Given the description of an element on the screen output the (x, y) to click on. 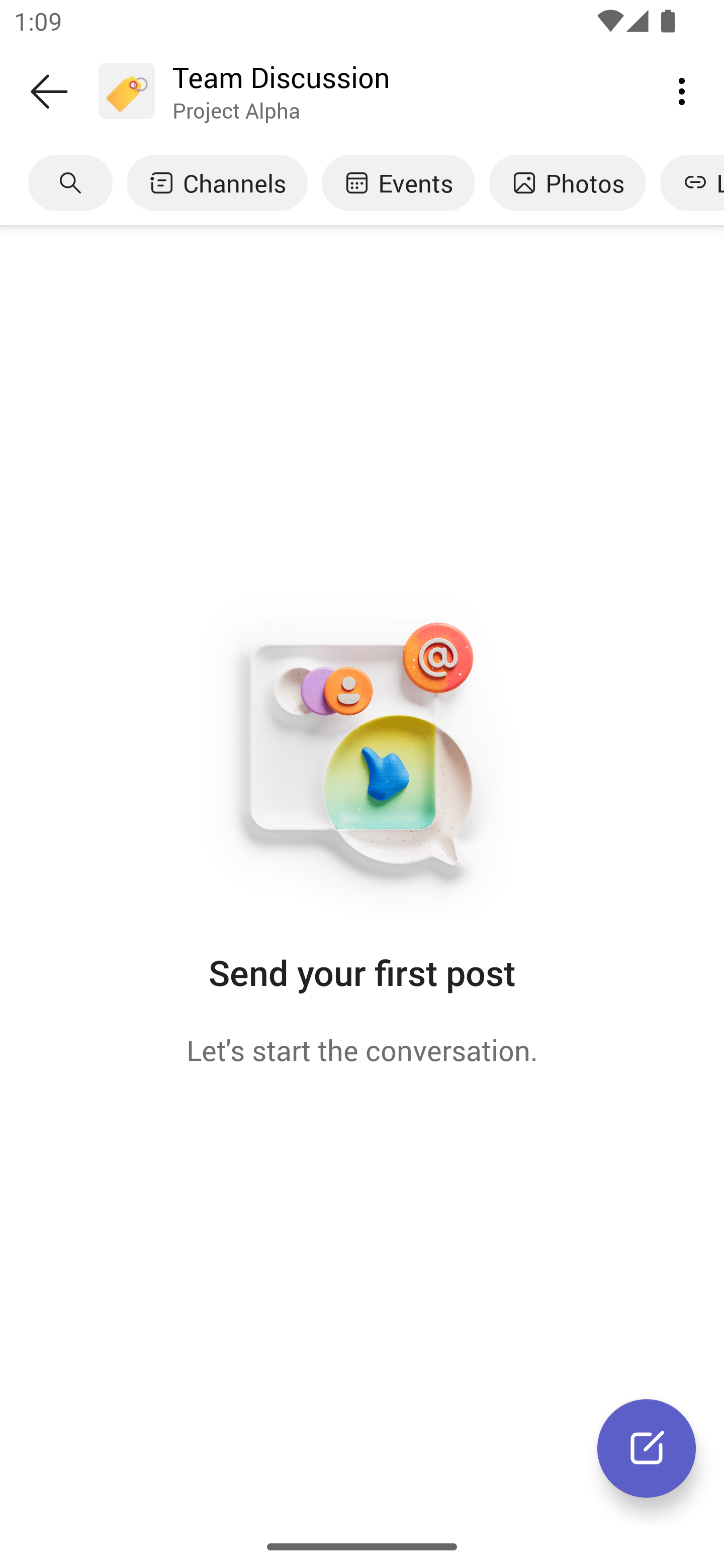
Back (49, 91)
More options (681, 90)
Search tab, 1 of 6 (70, 183)
Channels tab, 2 of 6 Channels (216, 183)
Events tab, 3 of 6 Events (397, 183)
Photos tab, 4 of 6 Photos (567, 183)
New conversation (646, 1447)
